Given the description of an element on the screen output the (x, y) to click on. 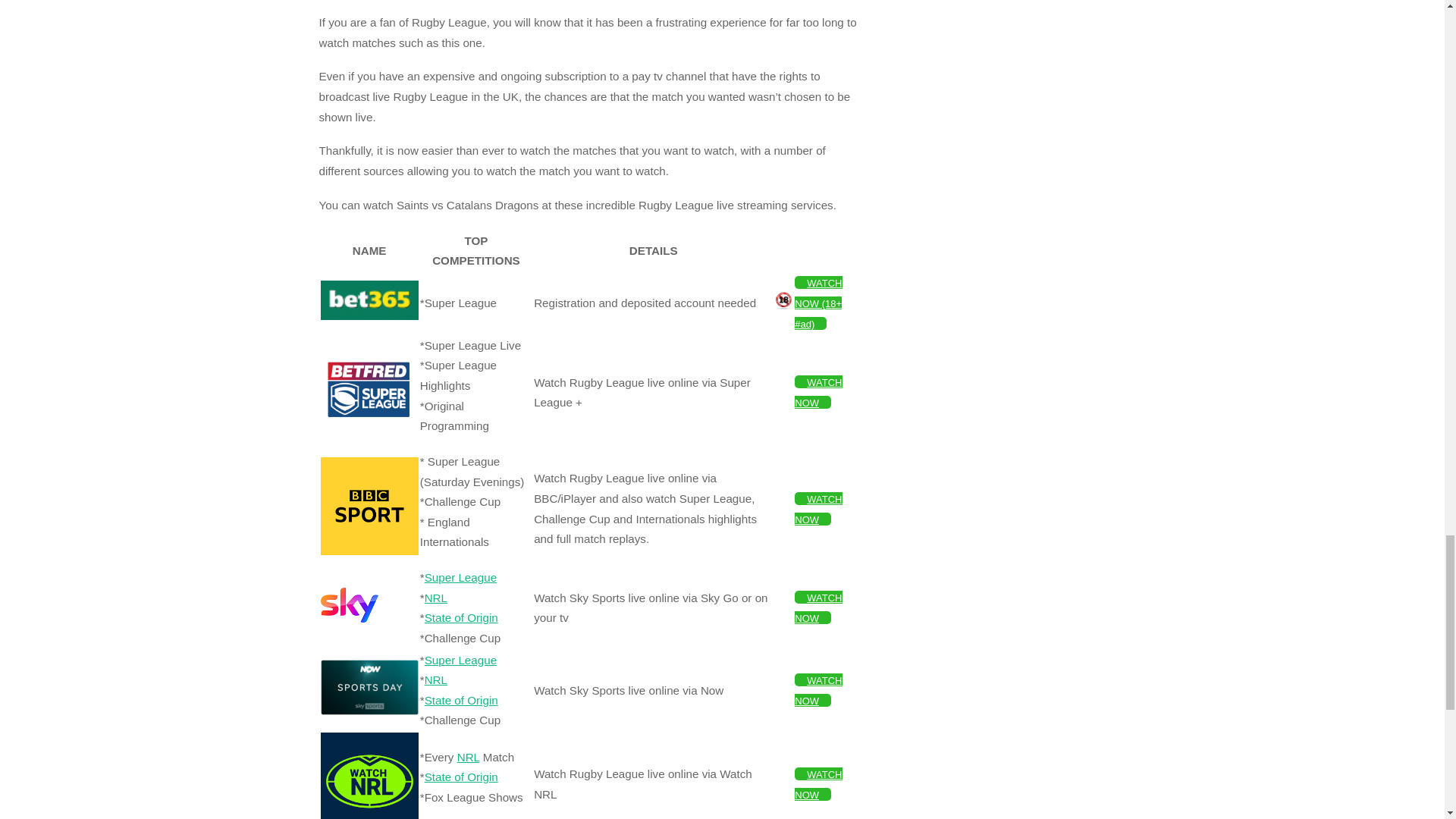
NRL (435, 679)
WATCH NOW (817, 391)
WATCH NOW (817, 689)
WATCH NOW (817, 508)
Super League (460, 576)
NRL (435, 597)
WATCH NOW (817, 607)
State of Origin (461, 617)
Super League (460, 659)
State of Origin (461, 699)
